Given the description of an element on the screen output the (x, y) to click on. 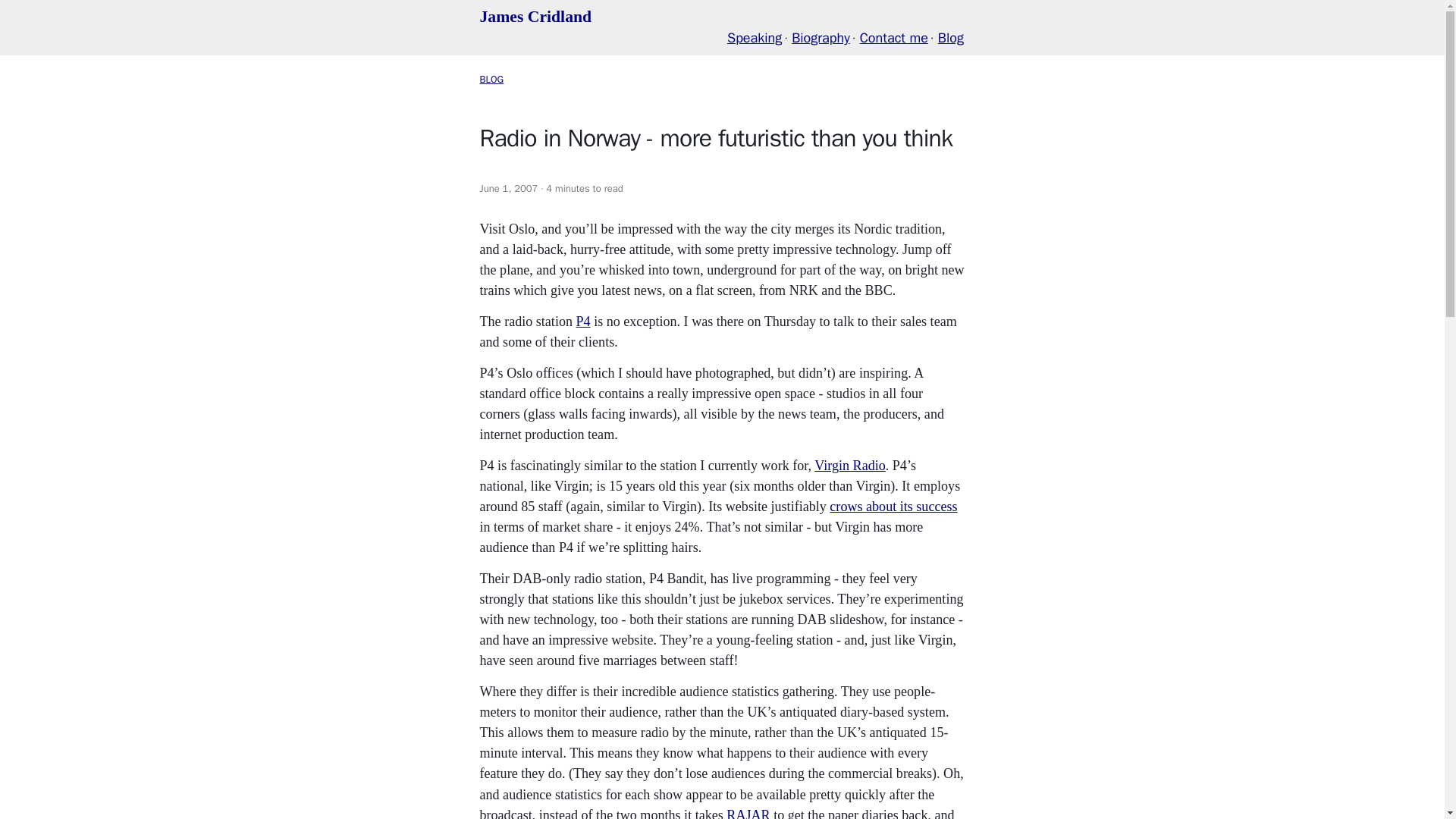
Biography (821, 37)
James Cridland (535, 16)
P4 (583, 321)
RAJAR (748, 813)
BLOG (491, 78)
Contact me (894, 37)
crows about its success (892, 506)
Speaking (753, 37)
Virgin Radio (849, 465)
Blog (950, 37)
